Given the description of an element on the screen output the (x, y) to click on. 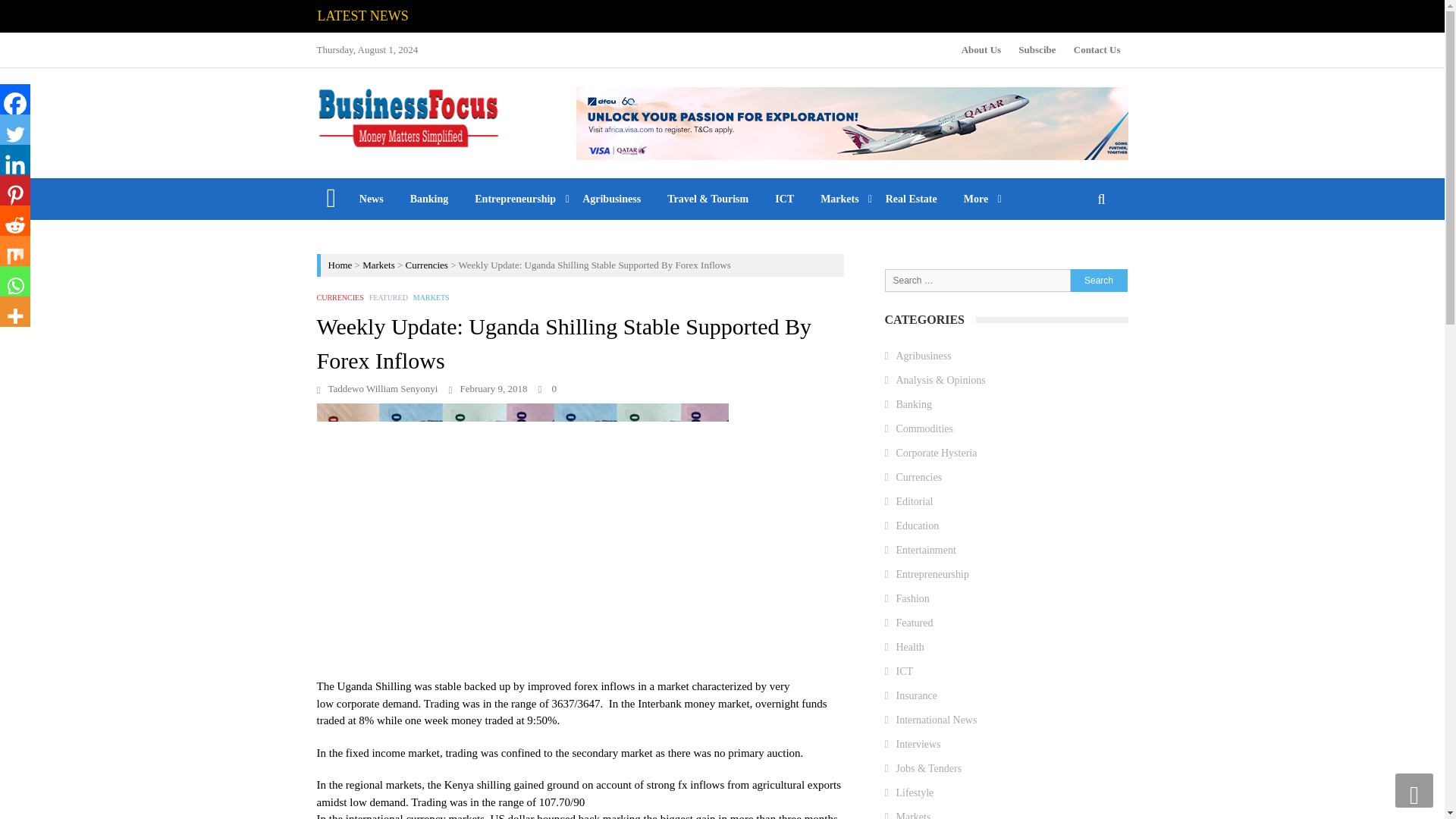
News (371, 199)
ICT (784, 199)
Real Estate (911, 199)
Facebook (15, 99)
Markets (840, 199)
More (975, 199)
Currencies (427, 265)
Linkedin (15, 159)
Agribusiness (611, 199)
Whatsapp (15, 281)
Reddit (15, 220)
Search (1098, 279)
Twitter (15, 129)
BUSINESS FOCUS (673, 139)
More (15, 311)
